Given the description of an element on the screen output the (x, y) to click on. 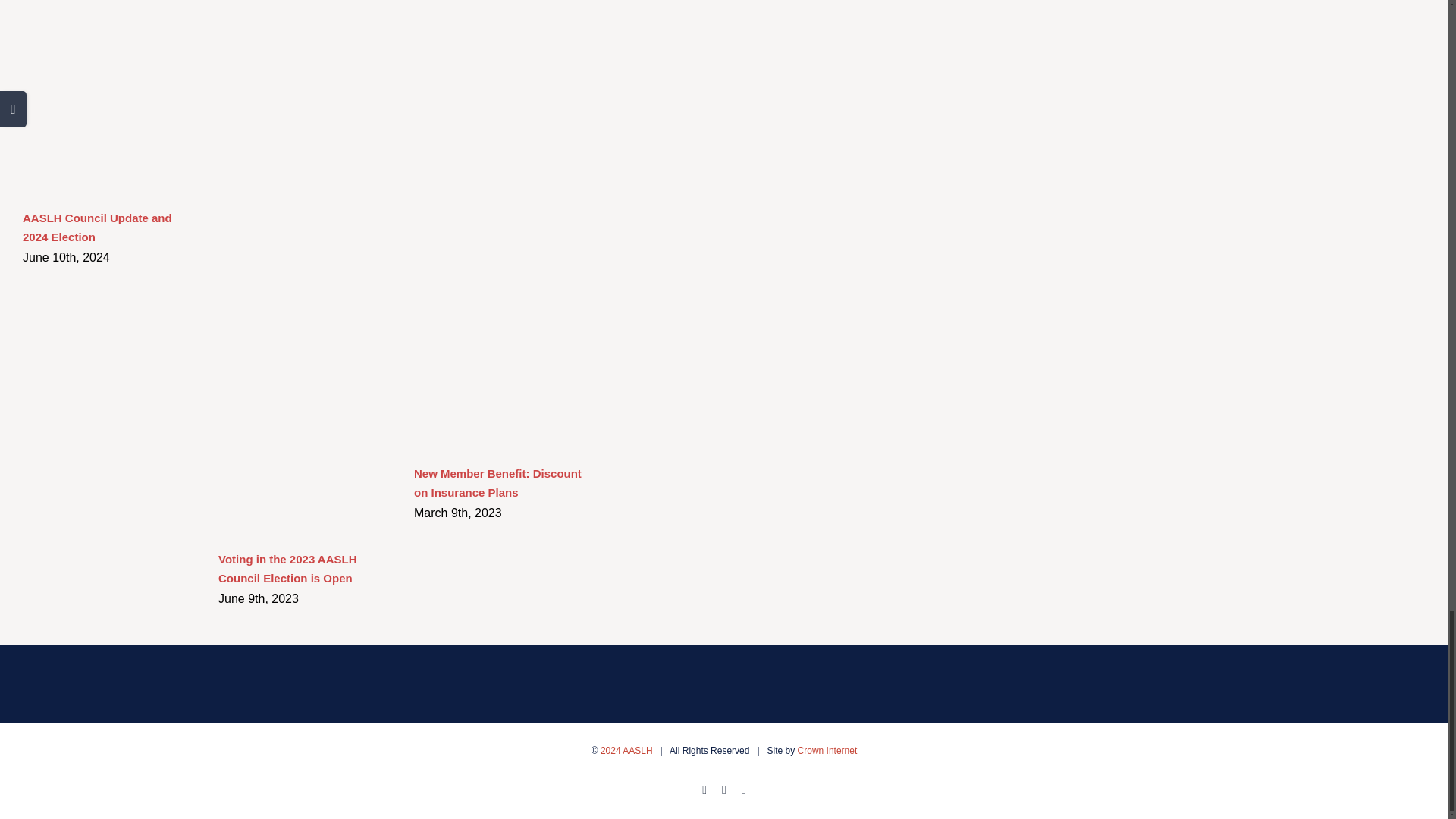
New Member Benefit: Discount on Insurance Plans (496, 482)
AASLH Council Update and 2024 Election (97, 227)
Voting in the 2023 AASLH Council Election is Open (287, 568)
